Given the description of an element on the screen output the (x, y) to click on. 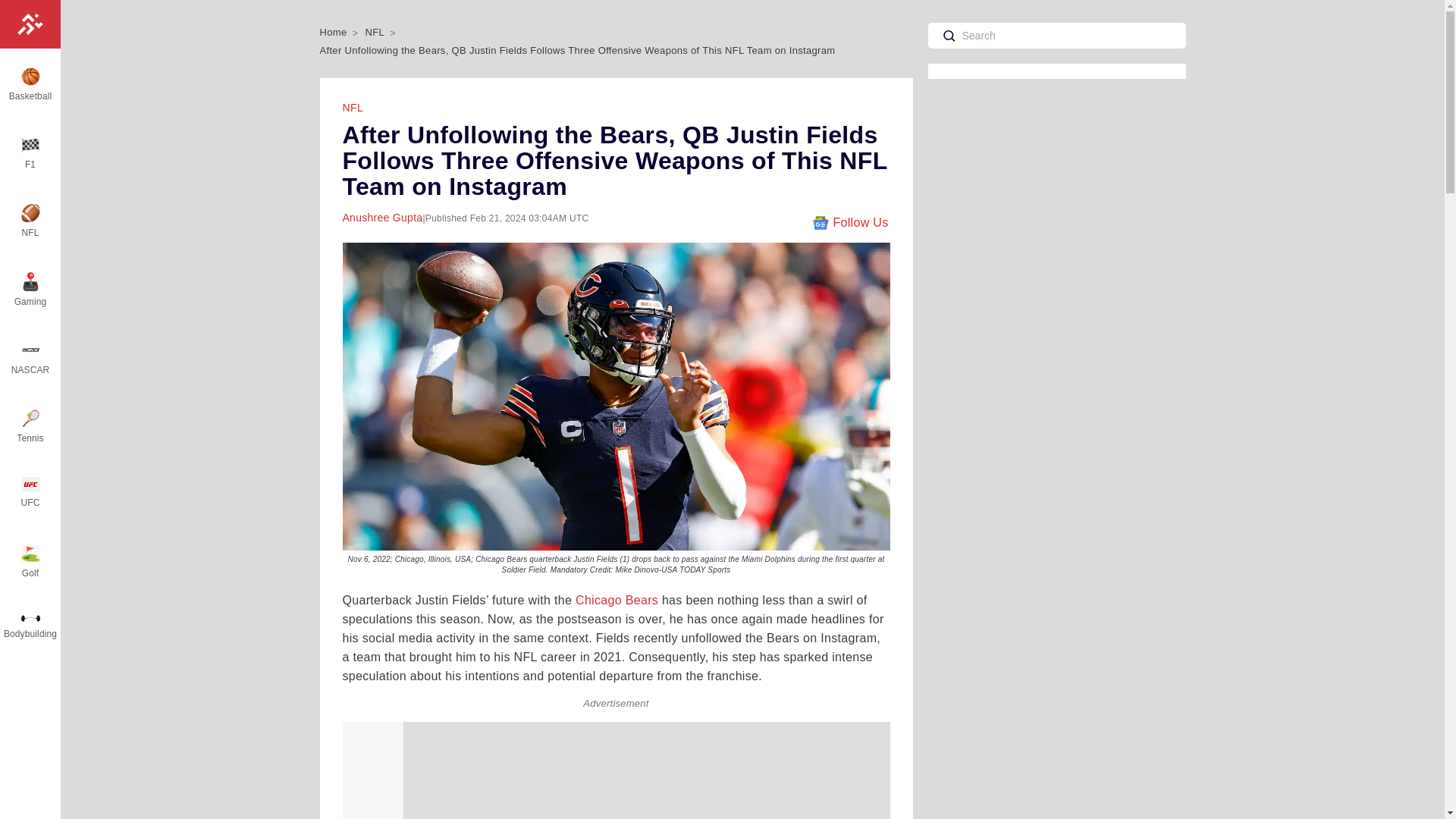
Chicago Bears (616, 599)
Follow Us (848, 222)
Home (333, 31)
NASCAR (30, 359)
Follow Us (848, 222)
Gaming (30, 291)
Anushree Gupta (382, 217)
F1 (30, 154)
NFL (30, 222)
Golf (30, 563)
